Given the description of an element on the screen output the (x, y) to click on. 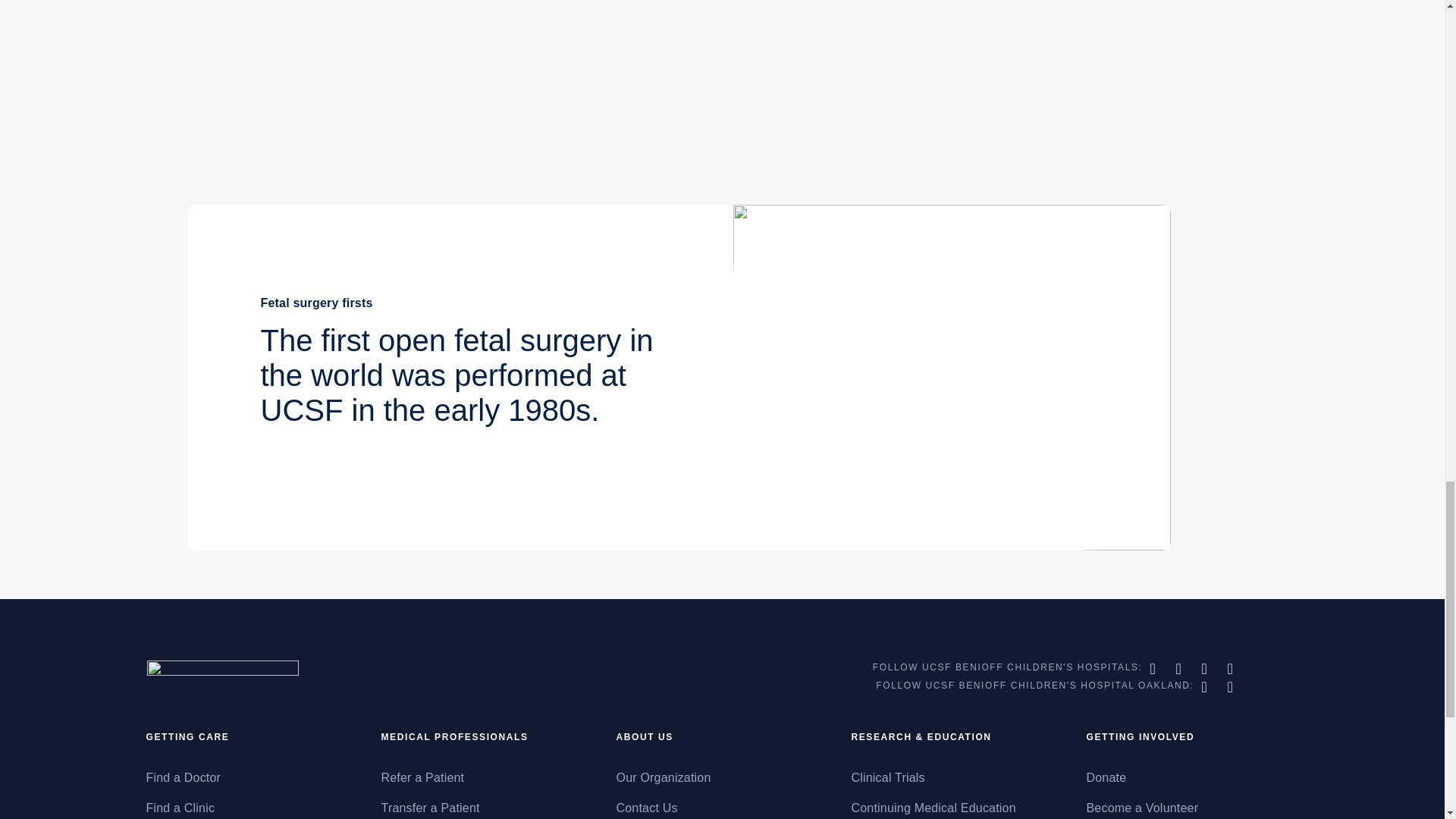
X (1180, 669)
